Given the description of an element on the screen output the (x, y) to click on. 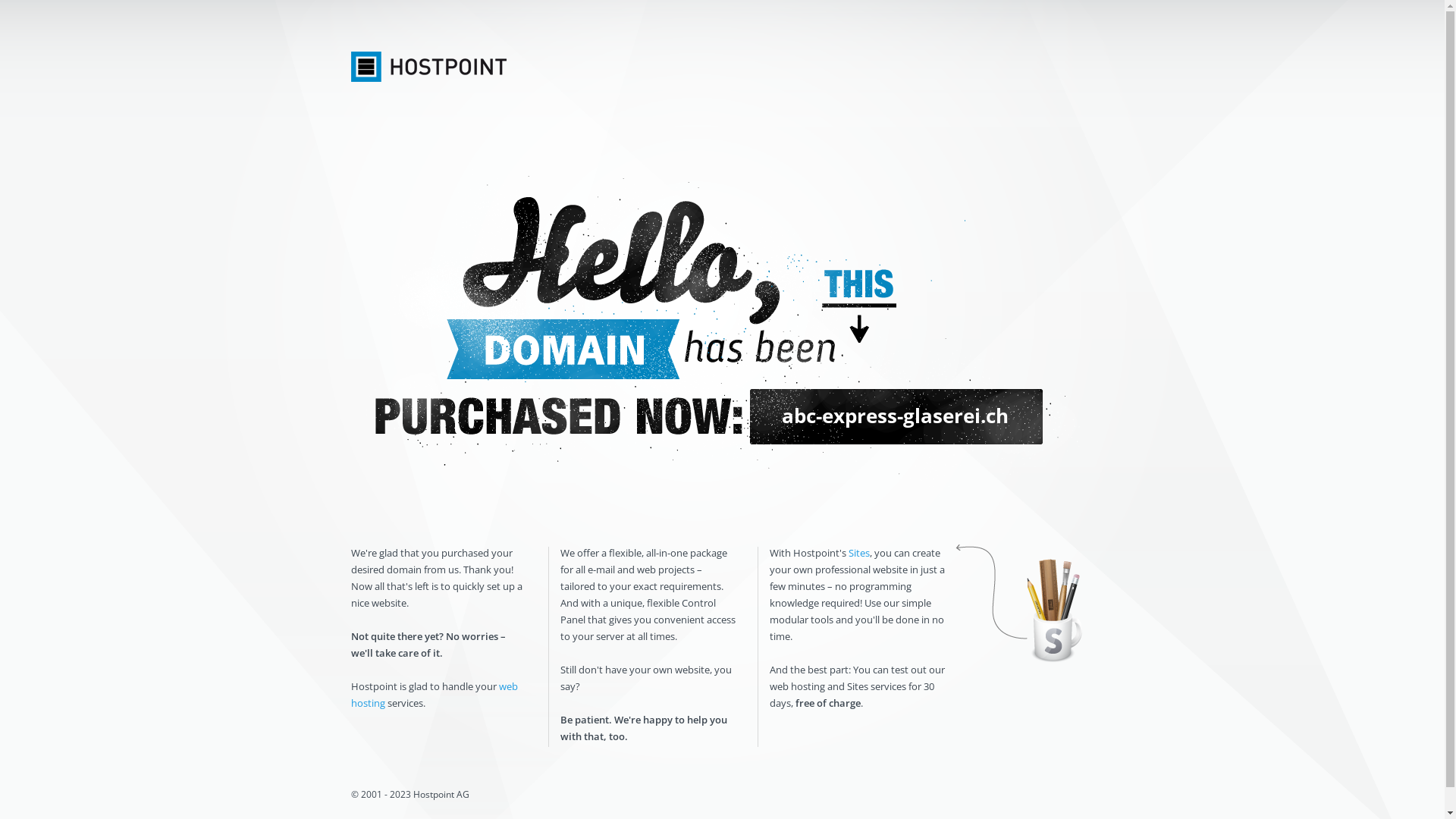
Sites Element type: text (858, 552)
web hosting Element type: text (433, 694)
